Given the description of an element on the screen output the (x, y) to click on. 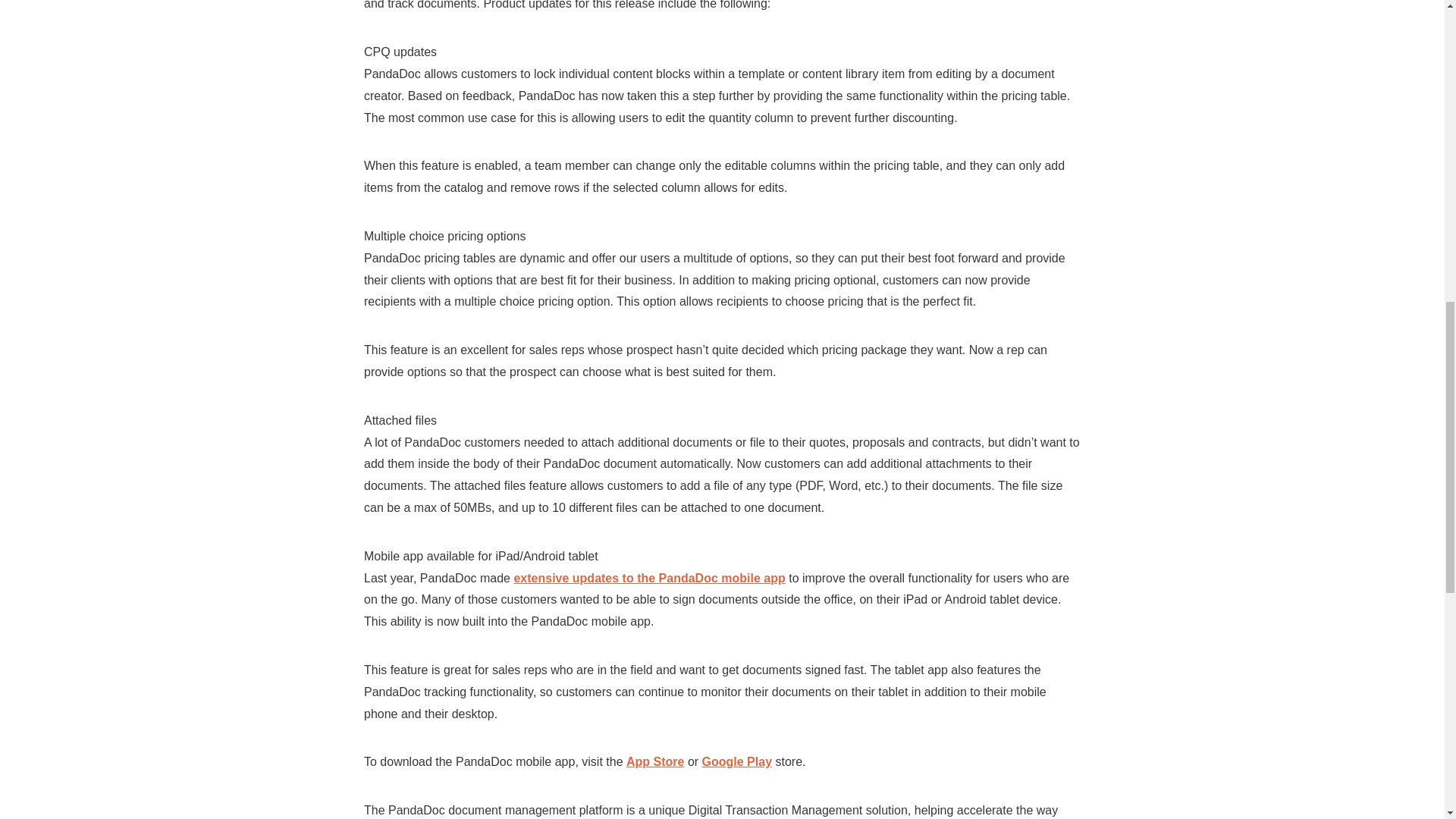
App Store (655, 761)
Google Play (736, 761)
extensive updates to the PandaDoc mobile app (648, 577)
